Given the description of an element on the screen output the (x, y) to click on. 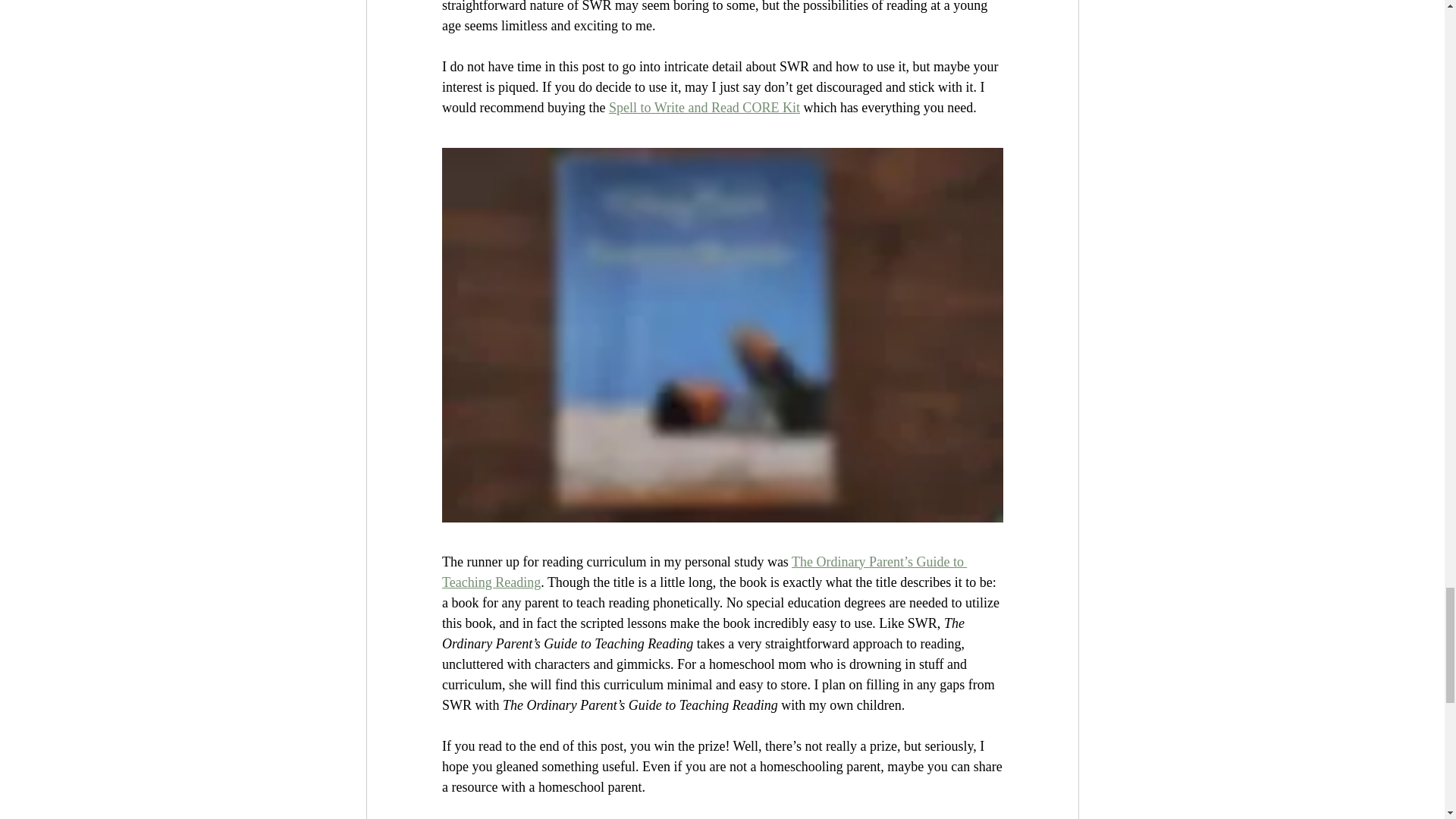
Spell to Write and Read CORE Kit (703, 107)
